Given the description of an element on the screen output the (x, y) to click on. 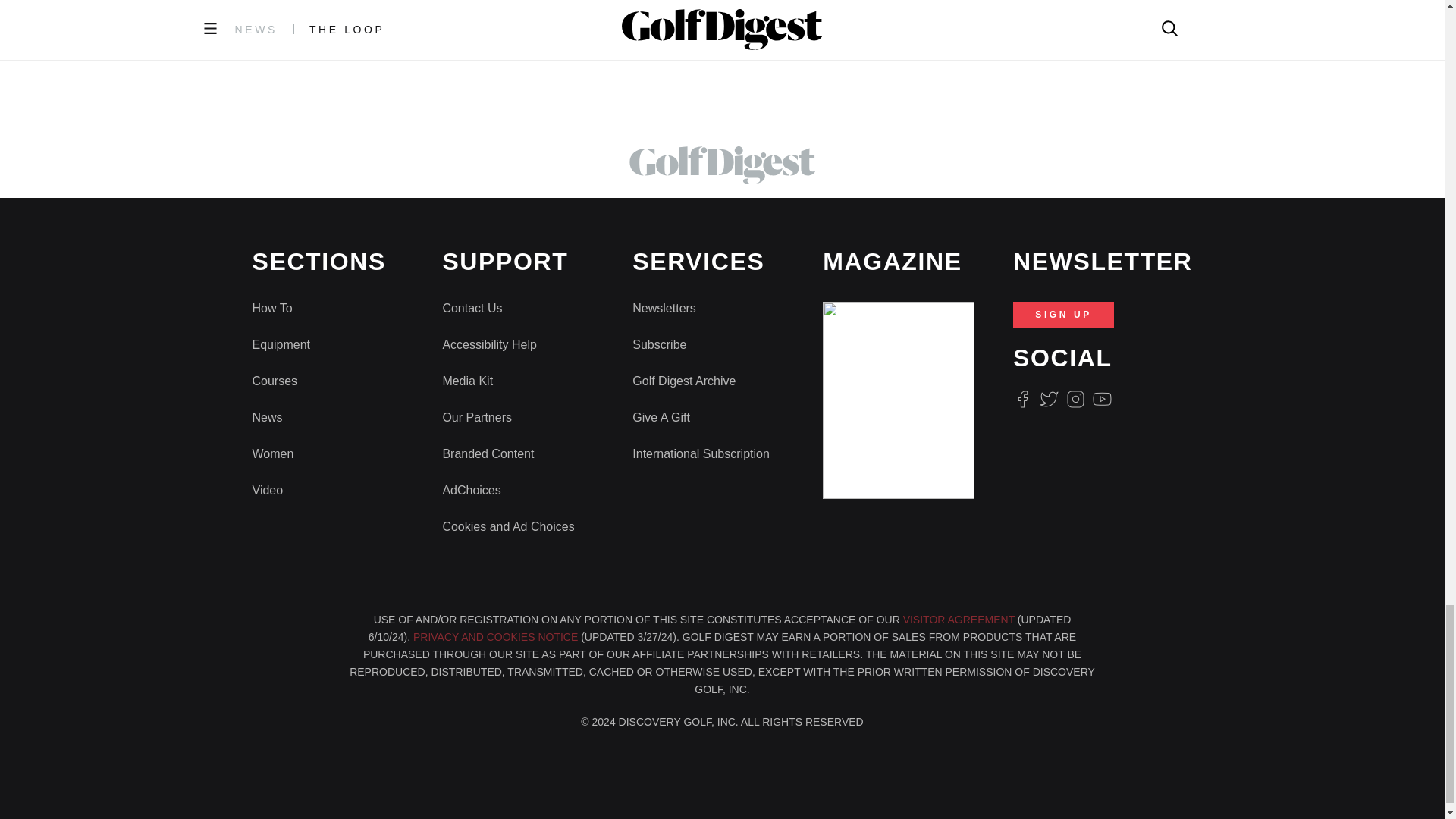
Facebook Logo (1022, 398)
Instagram Logo (1074, 398)
Youtube Icon (1102, 398)
Twitter Logo (1048, 398)
